Given the description of an element on the screen output the (x, y) to click on. 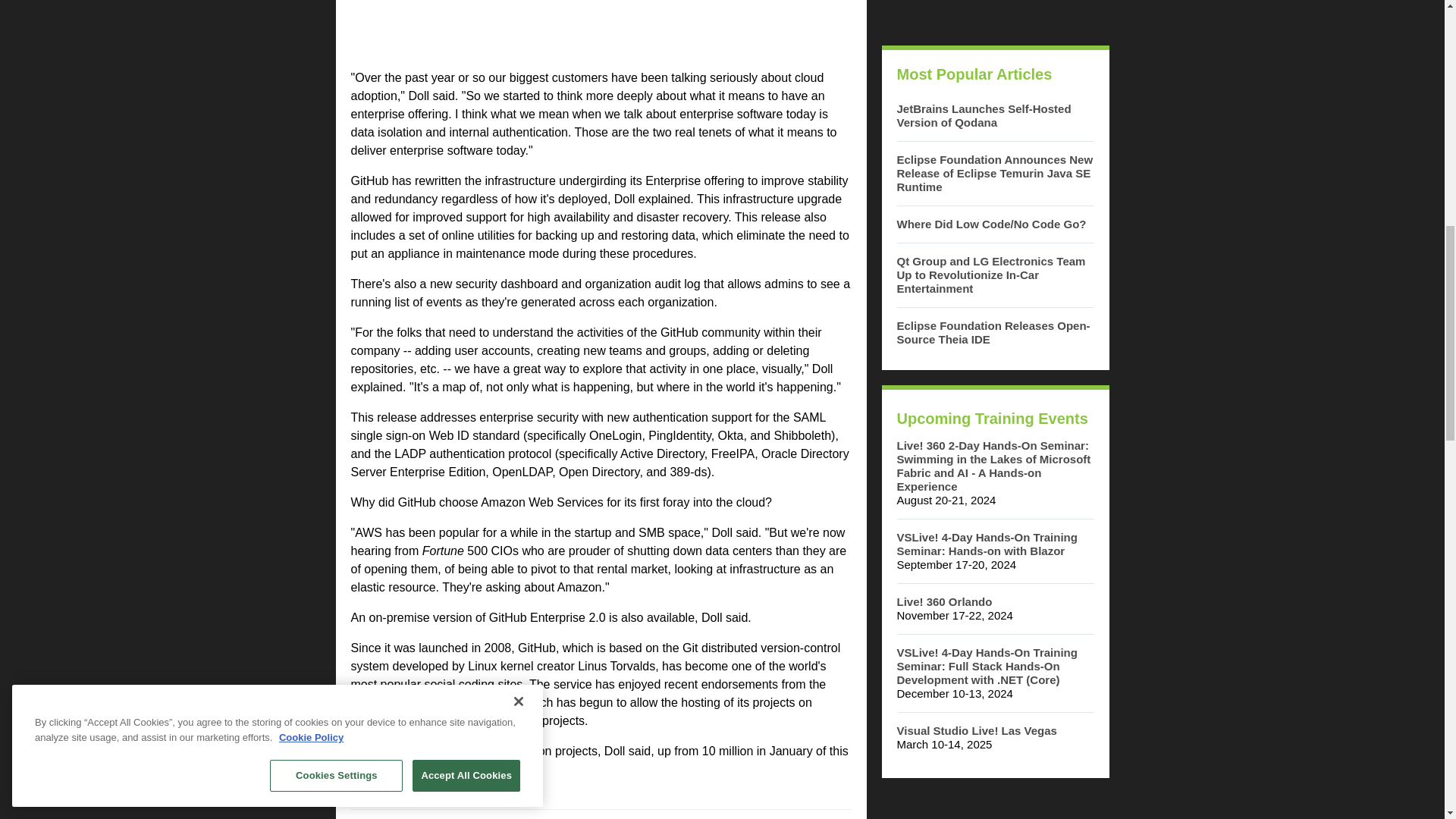
3rd party ad content (994, 15)
3rd party ad content (994, 806)
3rd party ad content (600, 28)
